Given the description of an element on the screen output the (x, y) to click on. 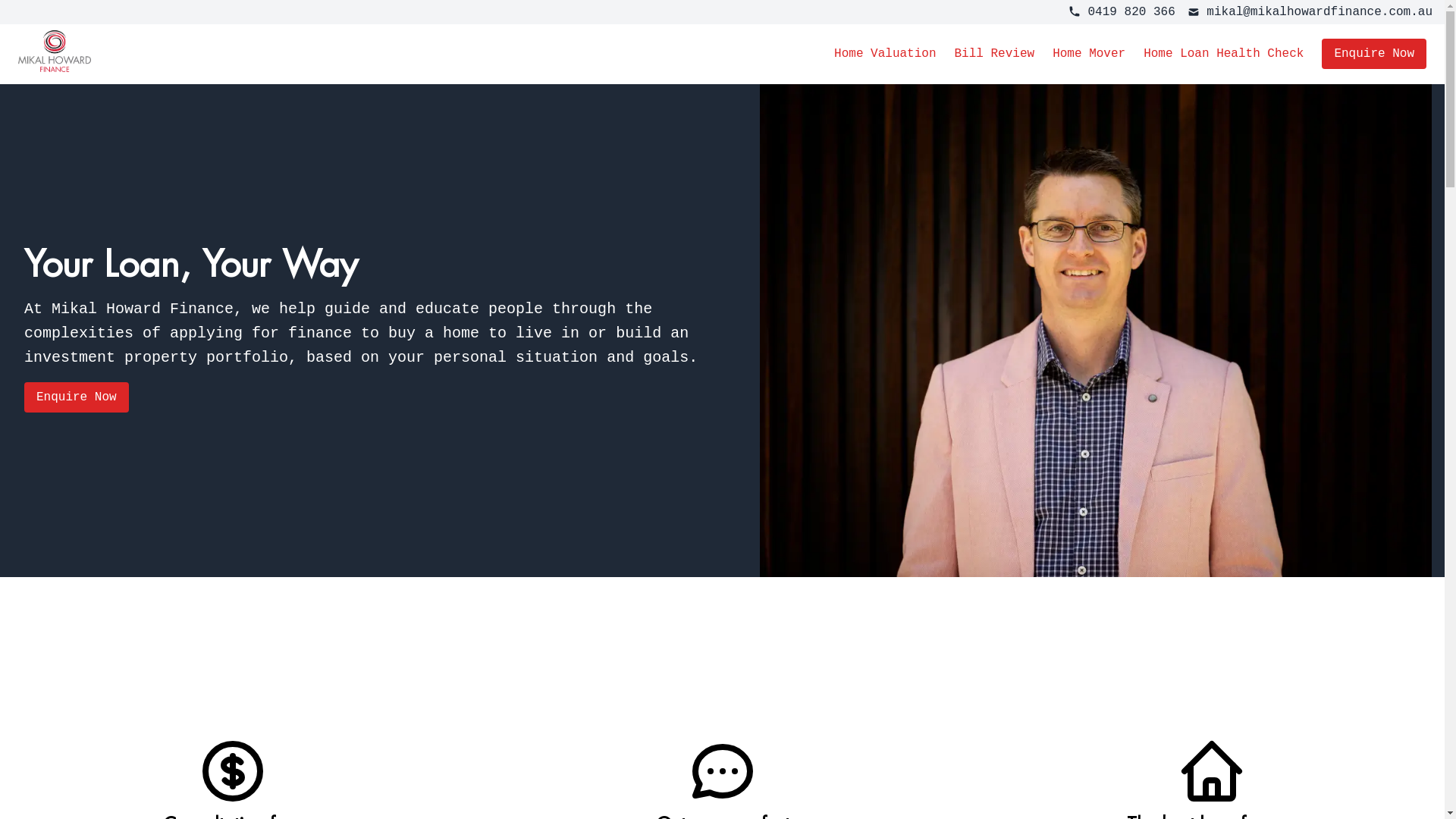
Home Mover Element type: text (1088, 53)
Enquire Now Element type: text (76, 397)
Enquire Now Element type: text (1373, 53)
Enquire Now Element type: text (1373, 53)
0419 820 366 Element type: text (1121, 11)
Home Loan Health Check Element type: text (1223, 53)
mikal@mikalhowardfinance.com.au Element type: text (1309, 11)
Enquire Now Element type: text (76, 397)
Home Valuation Element type: text (884, 53)
Bill Review Element type: text (993, 53)
